Given the description of an element on the screen output the (x, y) to click on. 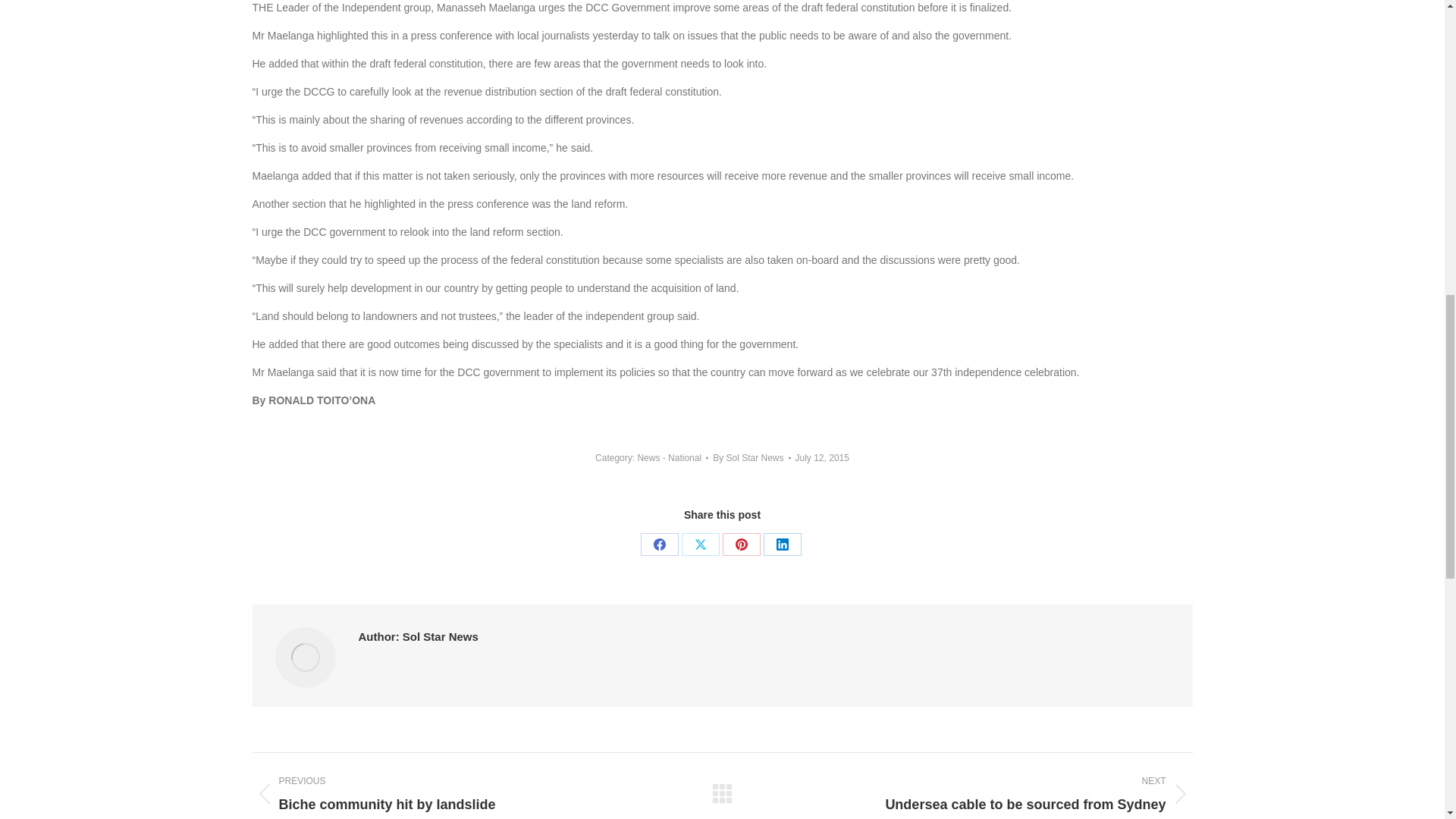
View all posts by Sol Star News (751, 457)
